Given the description of an element on the screen output the (x, y) to click on. 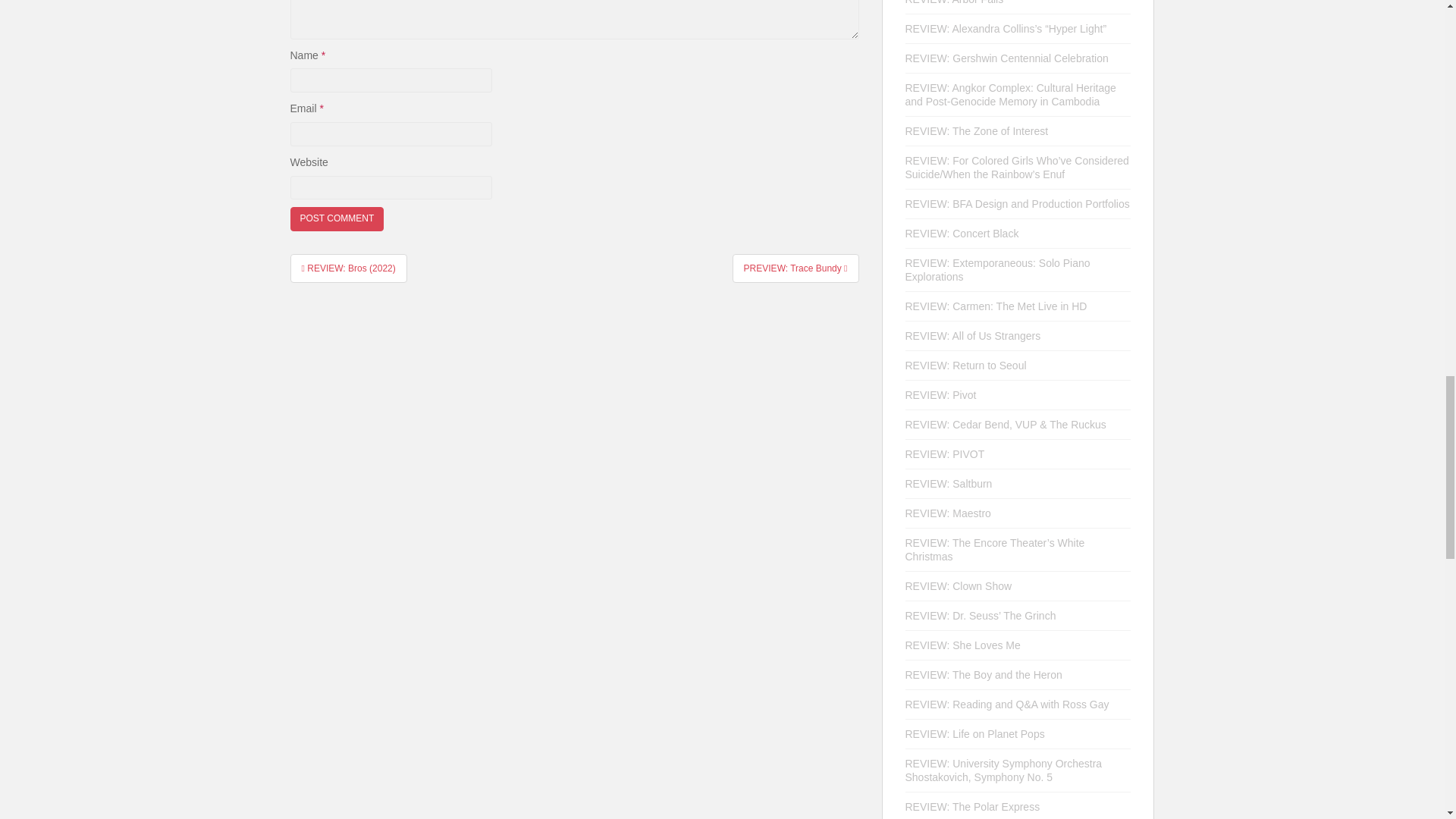
Post Comment (336, 218)
PREVIEW: Trace Bundy (795, 267)
Post Comment (336, 218)
Please wait until Google reCAPTCHA is loaded. (336, 218)
